Given the description of an element on the screen output the (x, y) to click on. 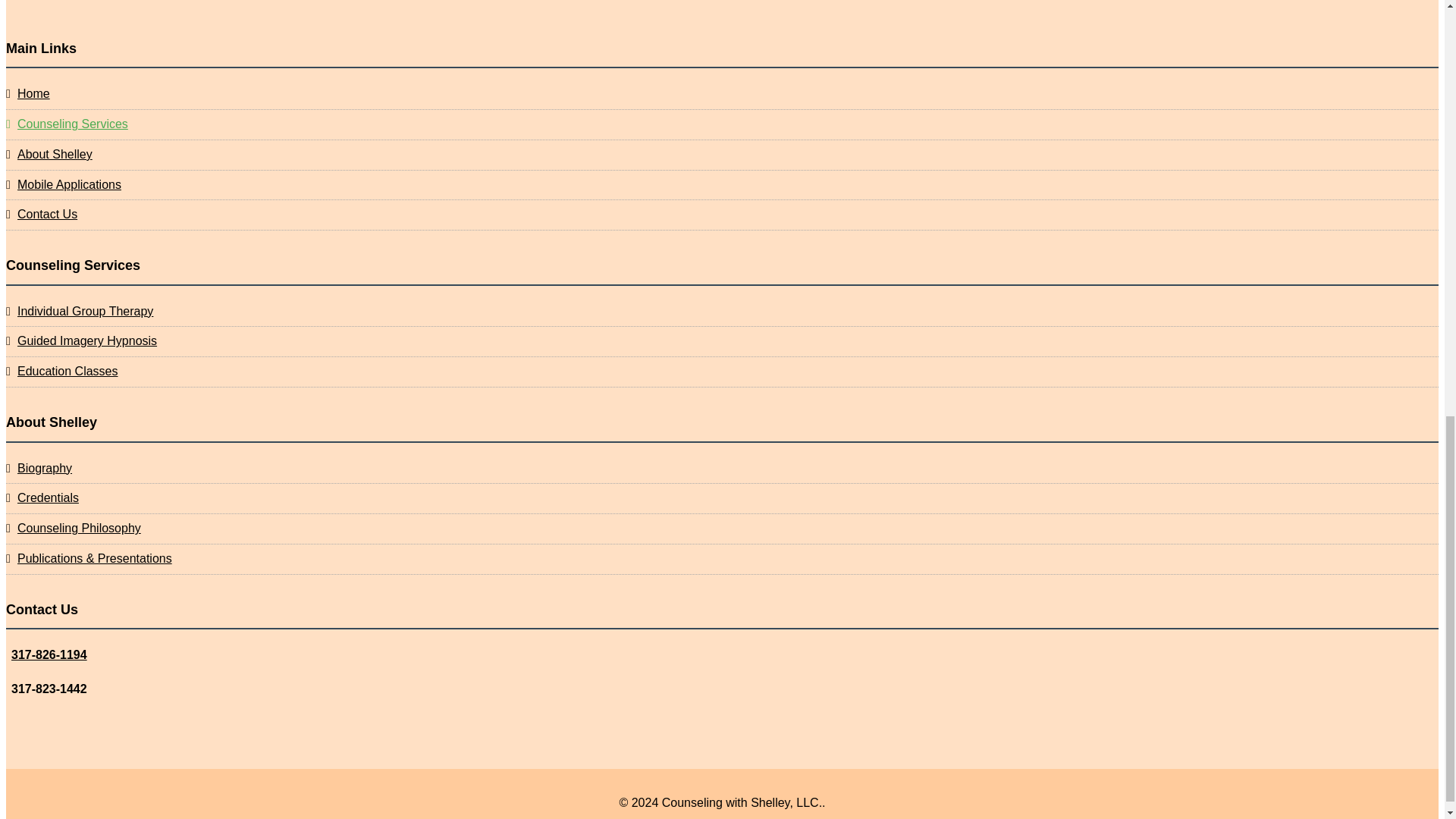
317-826-1194 (49, 654)
